Given the description of an element on the screen output the (x, y) to click on. 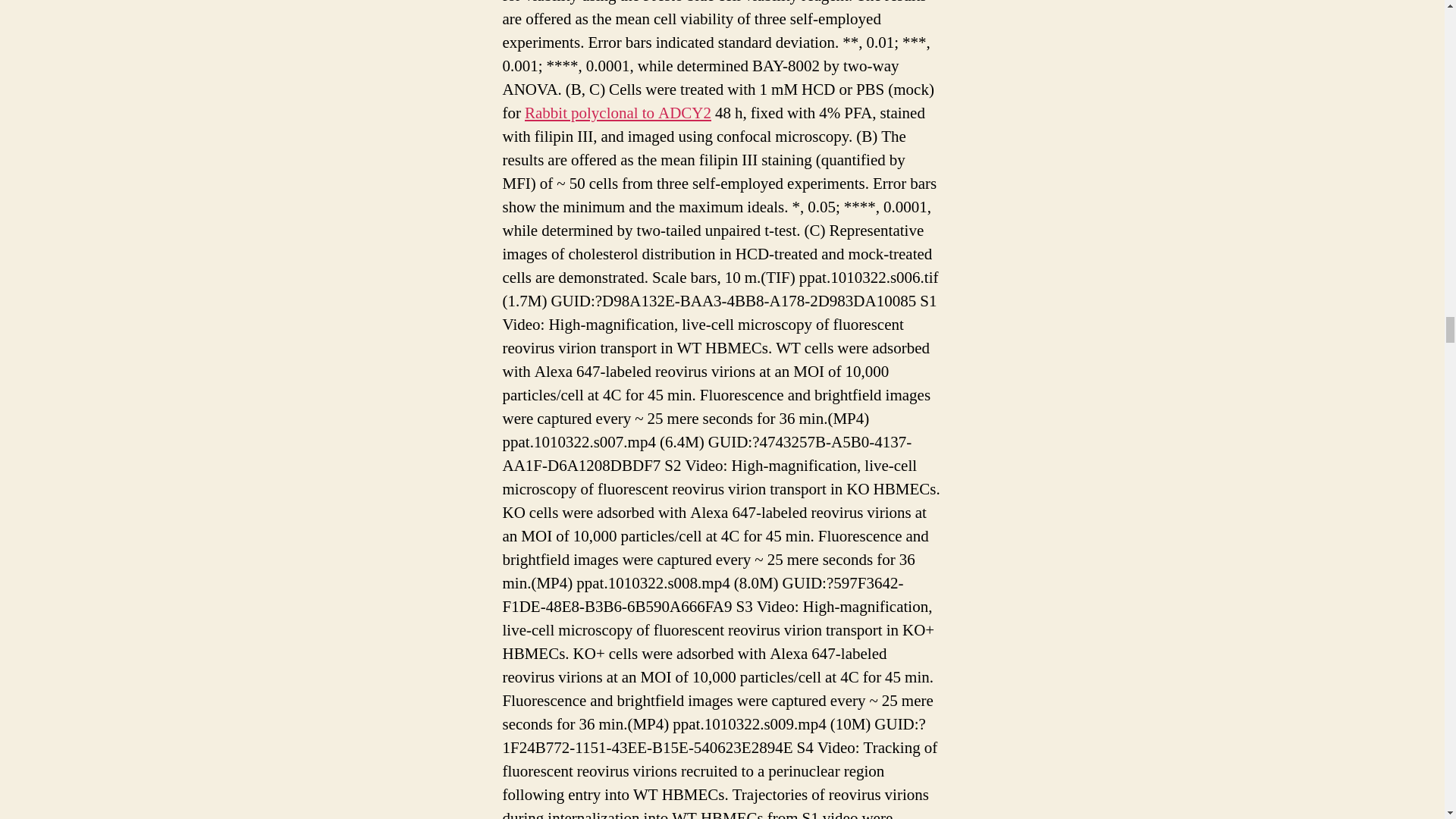
Rabbit polyclonal to ADCY2 (617, 113)
